Given the description of an element on the screen output the (x, y) to click on. 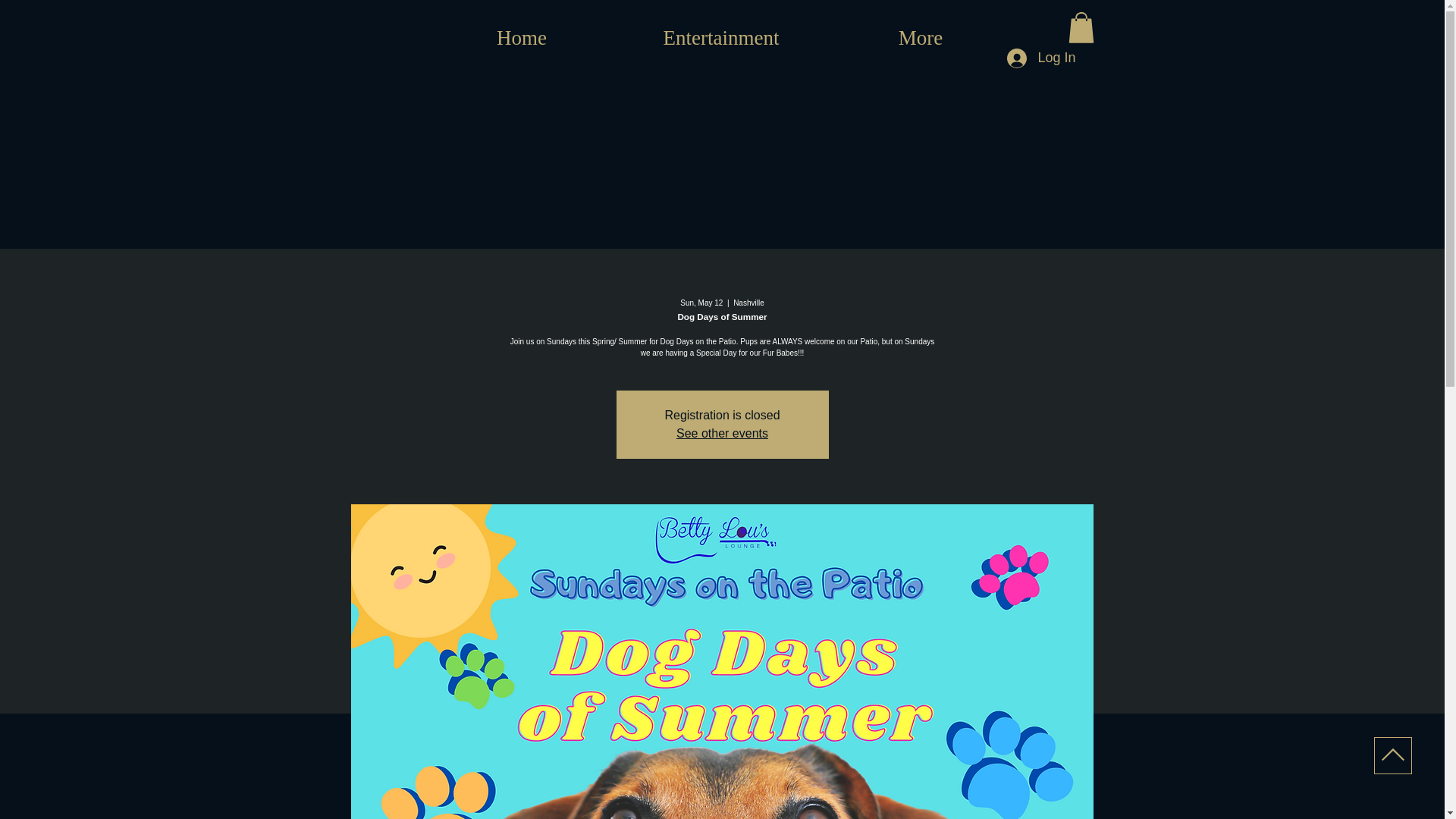
Log In (1040, 58)
Entertainment (721, 37)
Home (521, 37)
See other events (722, 432)
